Given the description of an element on the screen output the (x, y) to click on. 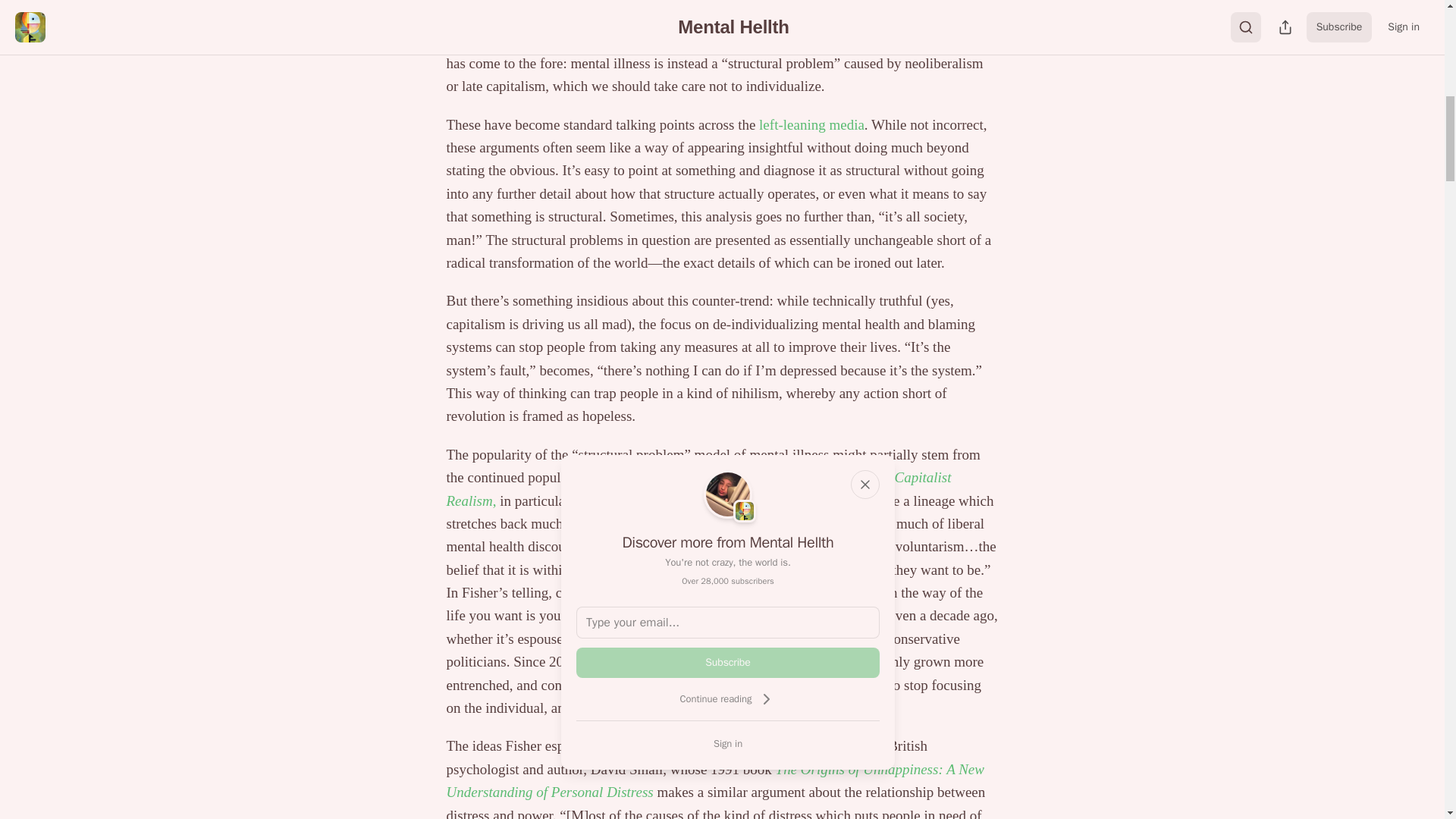
media (845, 124)
Subscribe (727, 662)
left-leaning (791, 124)
Capitalist Realism (697, 488)
Sign in (727, 743)
